Given the description of an element on the screen output the (x, y) to click on. 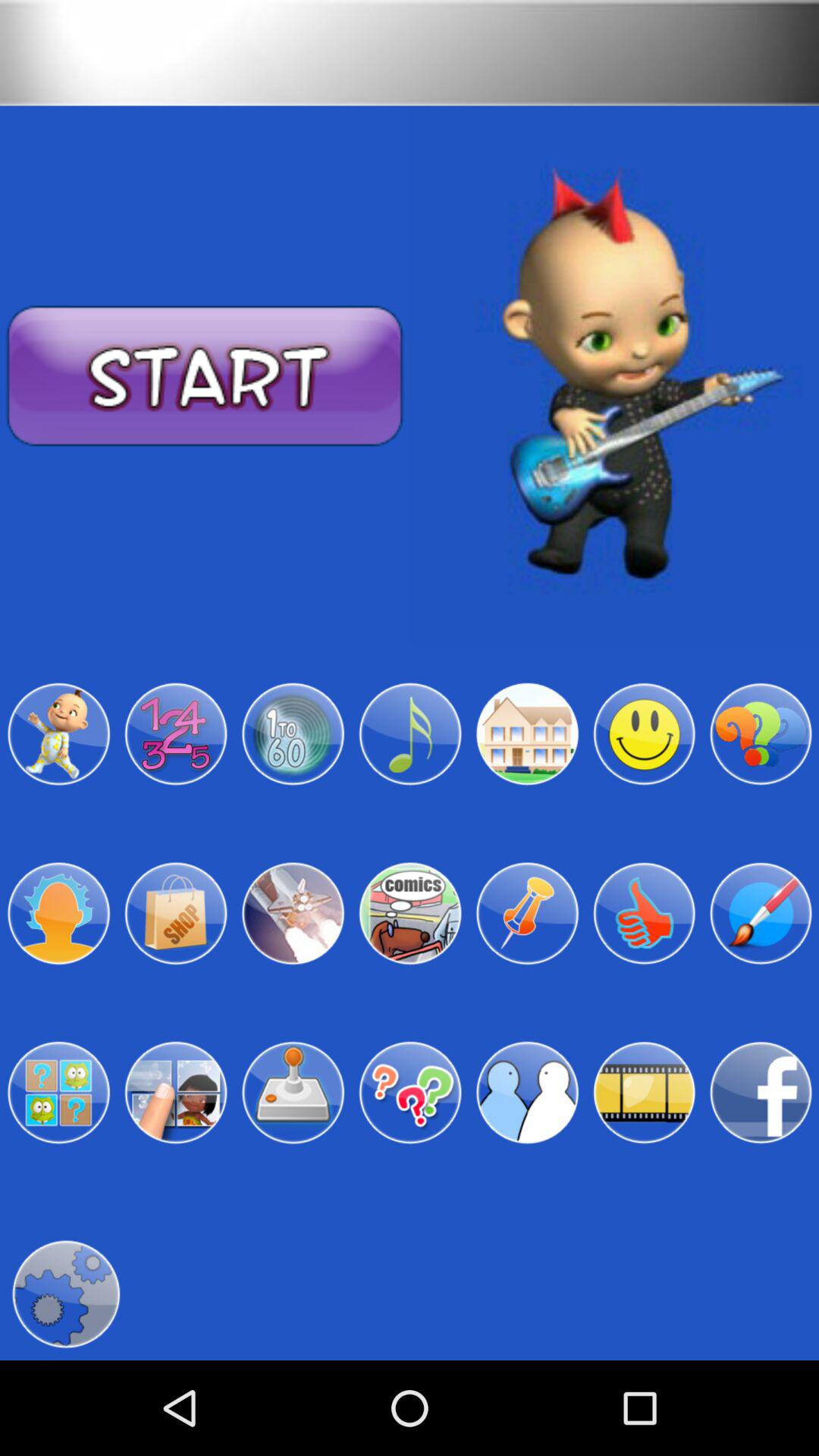
choose image (58, 913)
